Given the description of an element on the screen output the (x, y) to click on. 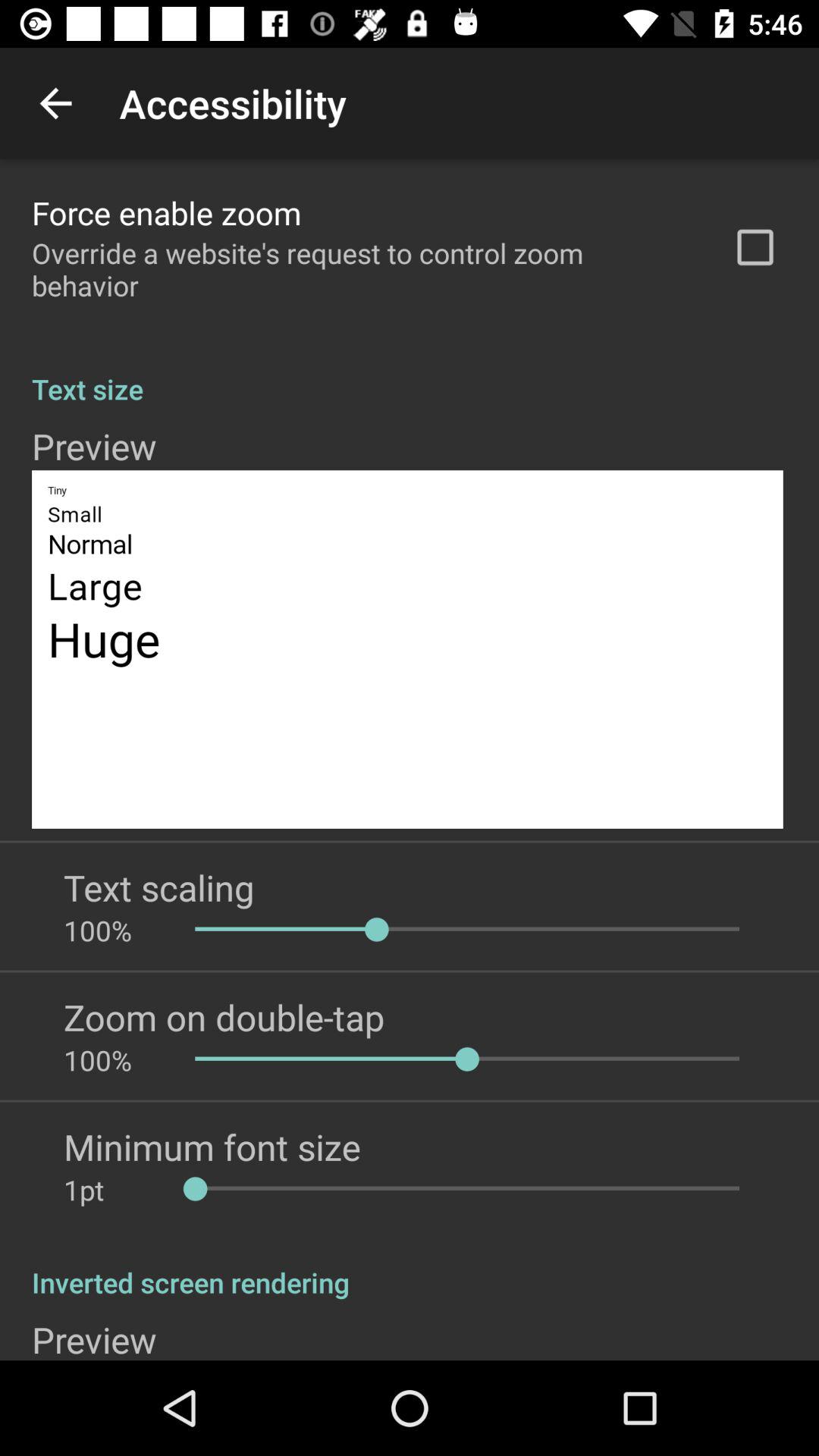
flip until minimum font size item (211, 1146)
